Given the description of an element on the screen output the (x, y) to click on. 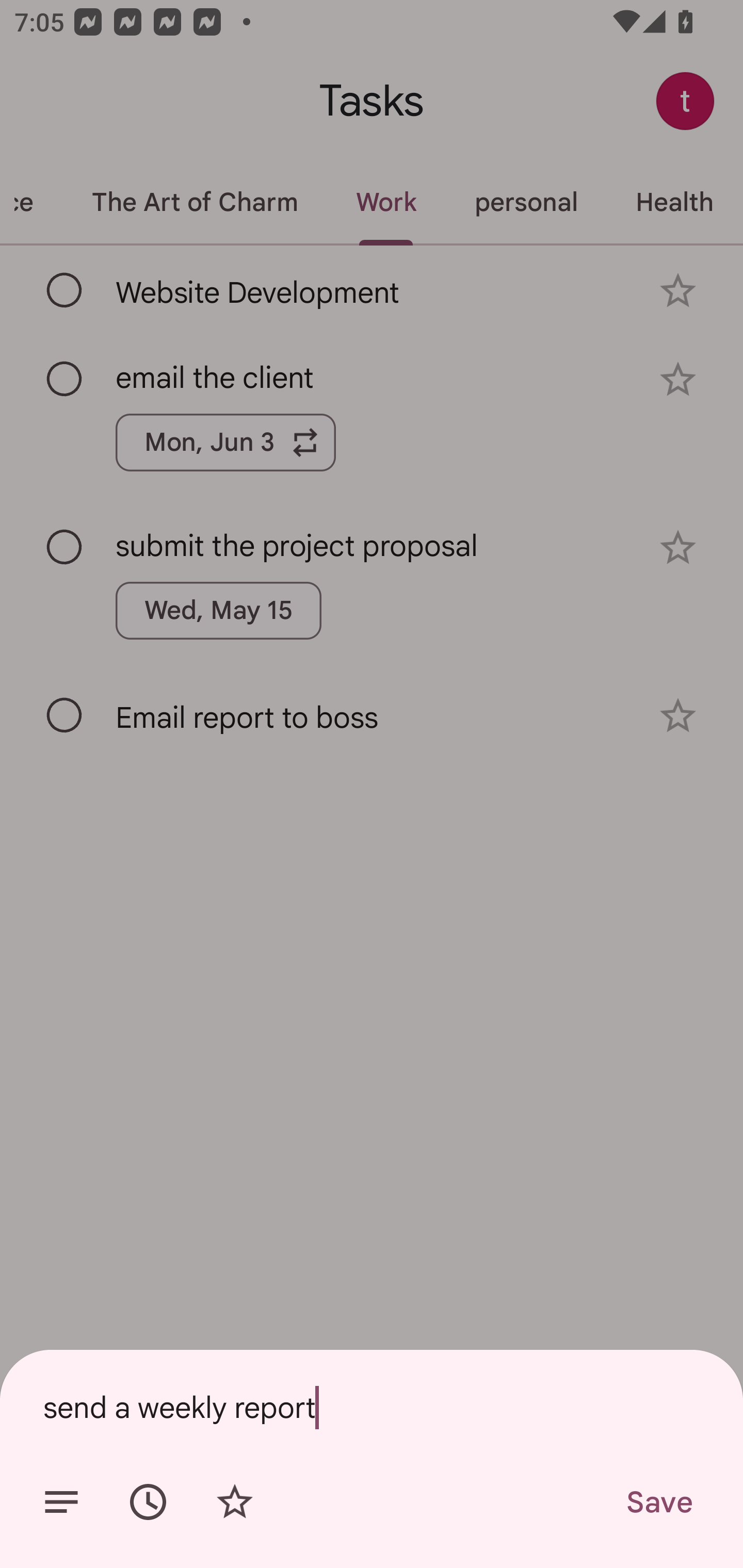
send a weekly report (371, 1407)
Save (659, 1501)
Add details (60, 1501)
Set date/time (147, 1501)
Add star (234, 1501)
